Given the description of an element on the screen output the (x, y) to click on. 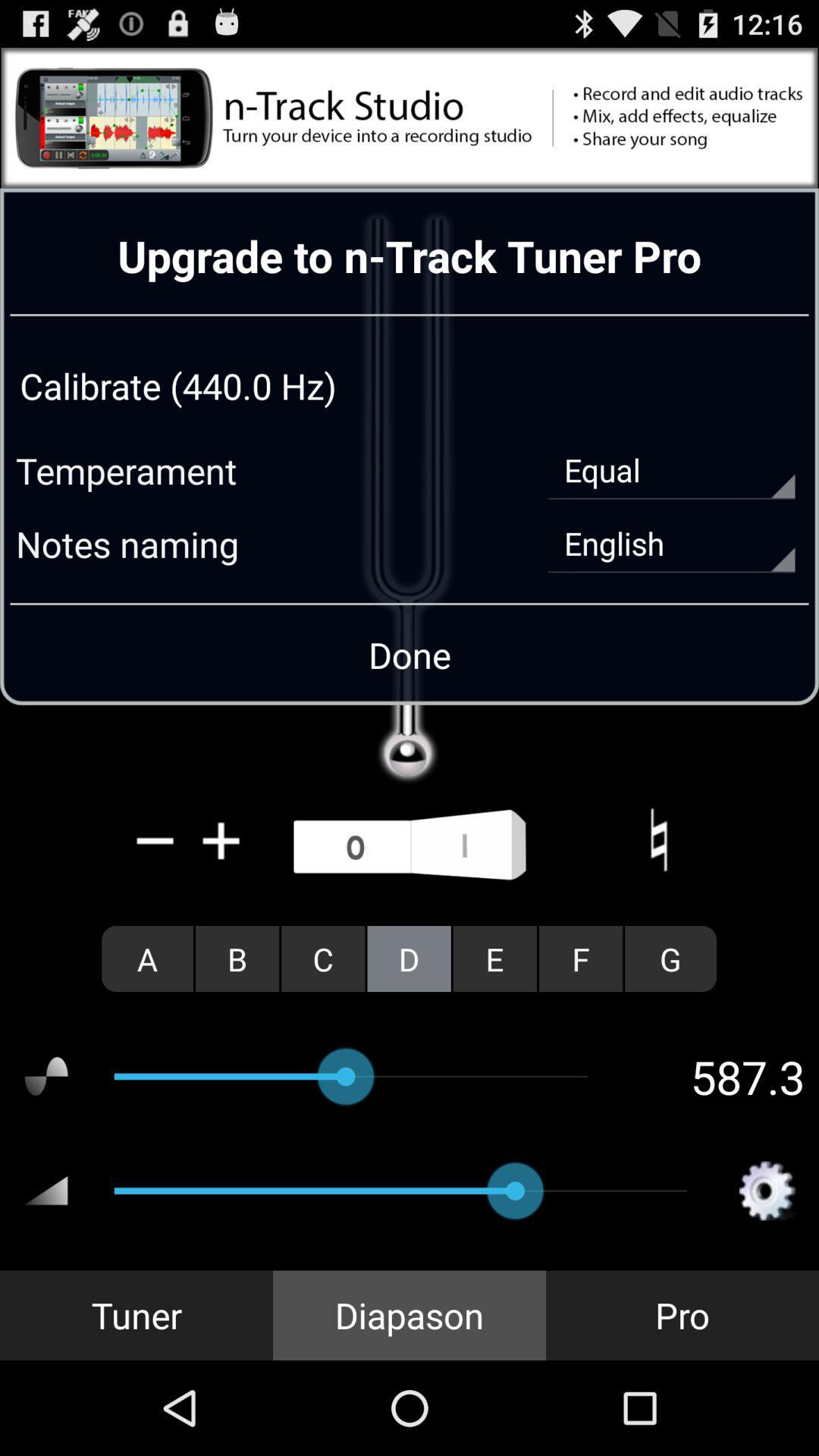
turn off the a item (147, 958)
